Given the description of an element on the screen output the (x, y) to click on. 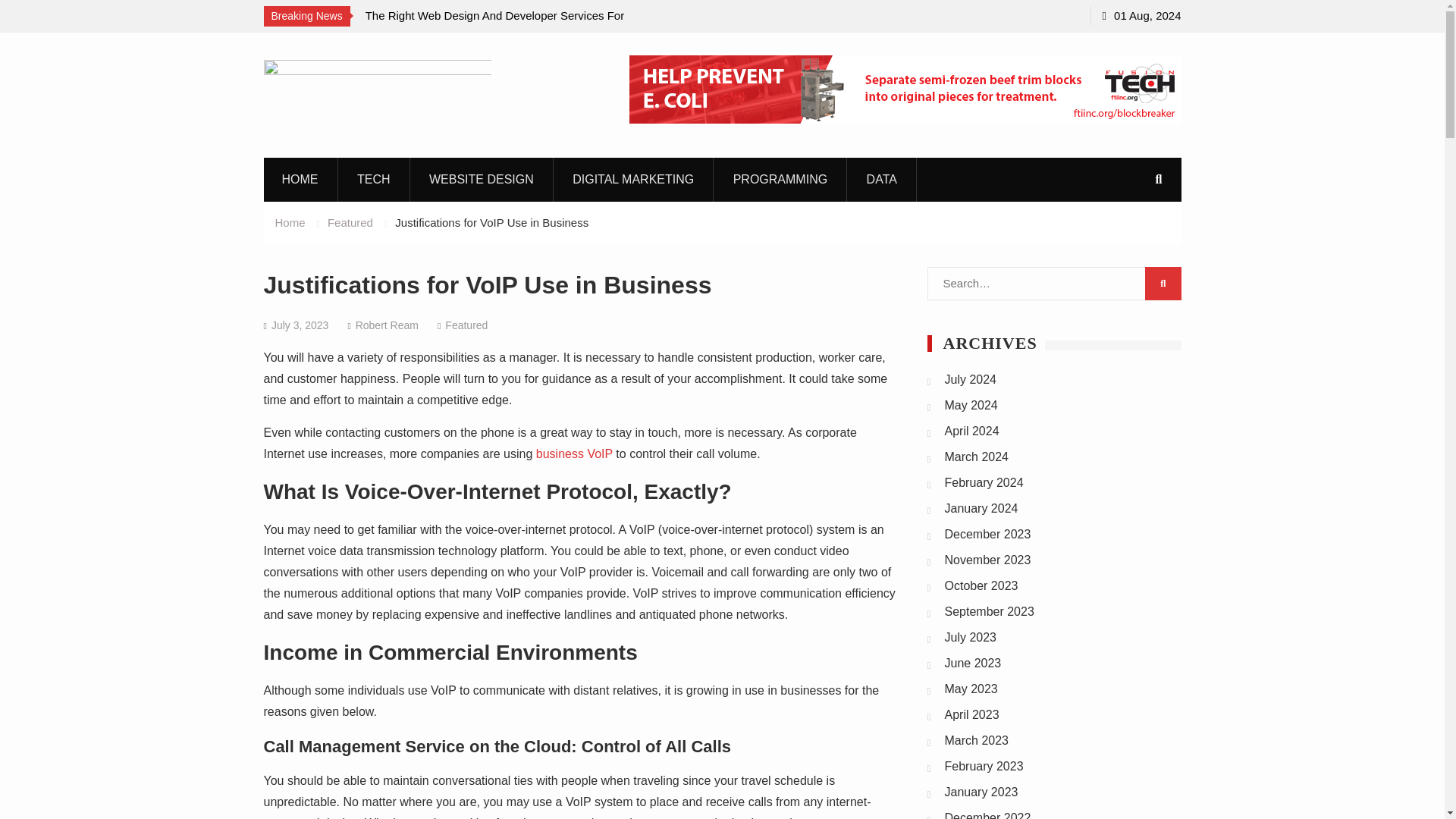
Home (289, 221)
business VoIP (573, 453)
TECH (373, 179)
Robert Ream (387, 325)
Search for: (1053, 283)
HOME (299, 179)
The Right Web Design And Developer Services For Your Startup (502, 25)
DIGITAL MARKETING (633, 179)
July 3, 2023 (299, 325)
Featured (349, 221)
WEBSITE DESIGN (481, 179)
PROGRAMMING (780, 179)
DATA (882, 179)
Featured (466, 325)
